Given the description of an element on the screen output the (x, y) to click on. 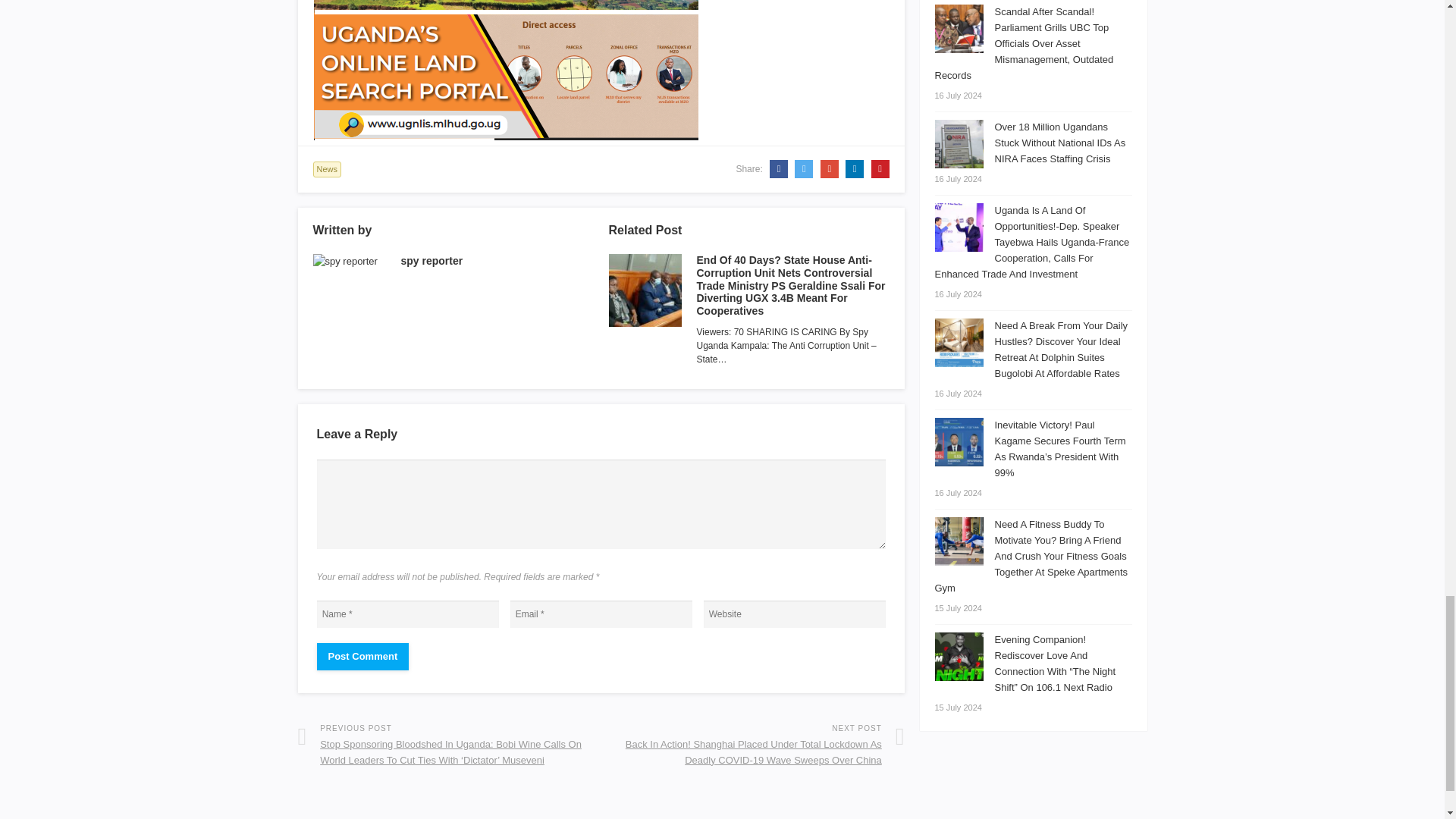
Post Comment (363, 656)
